Given the description of an element on the screen output the (x, y) to click on. 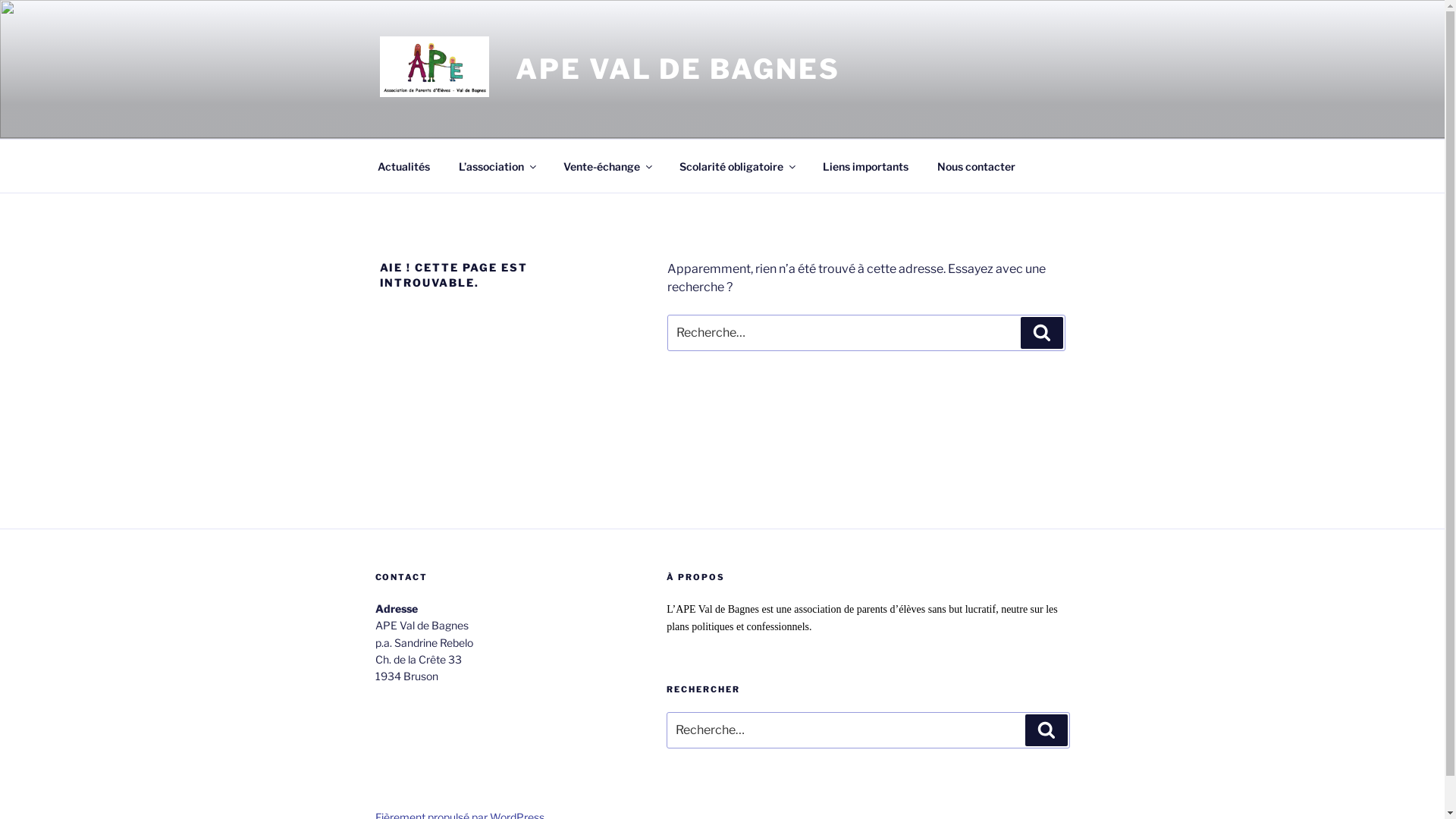
Recherche Element type: text (1041, 332)
APE VAL DE BAGNES Element type: text (677, 68)
Liens importants Element type: text (865, 165)
Nous contacter Element type: text (975, 165)
Recherche Element type: text (1046, 730)
